Given the description of an element on the screen output the (x, y) to click on. 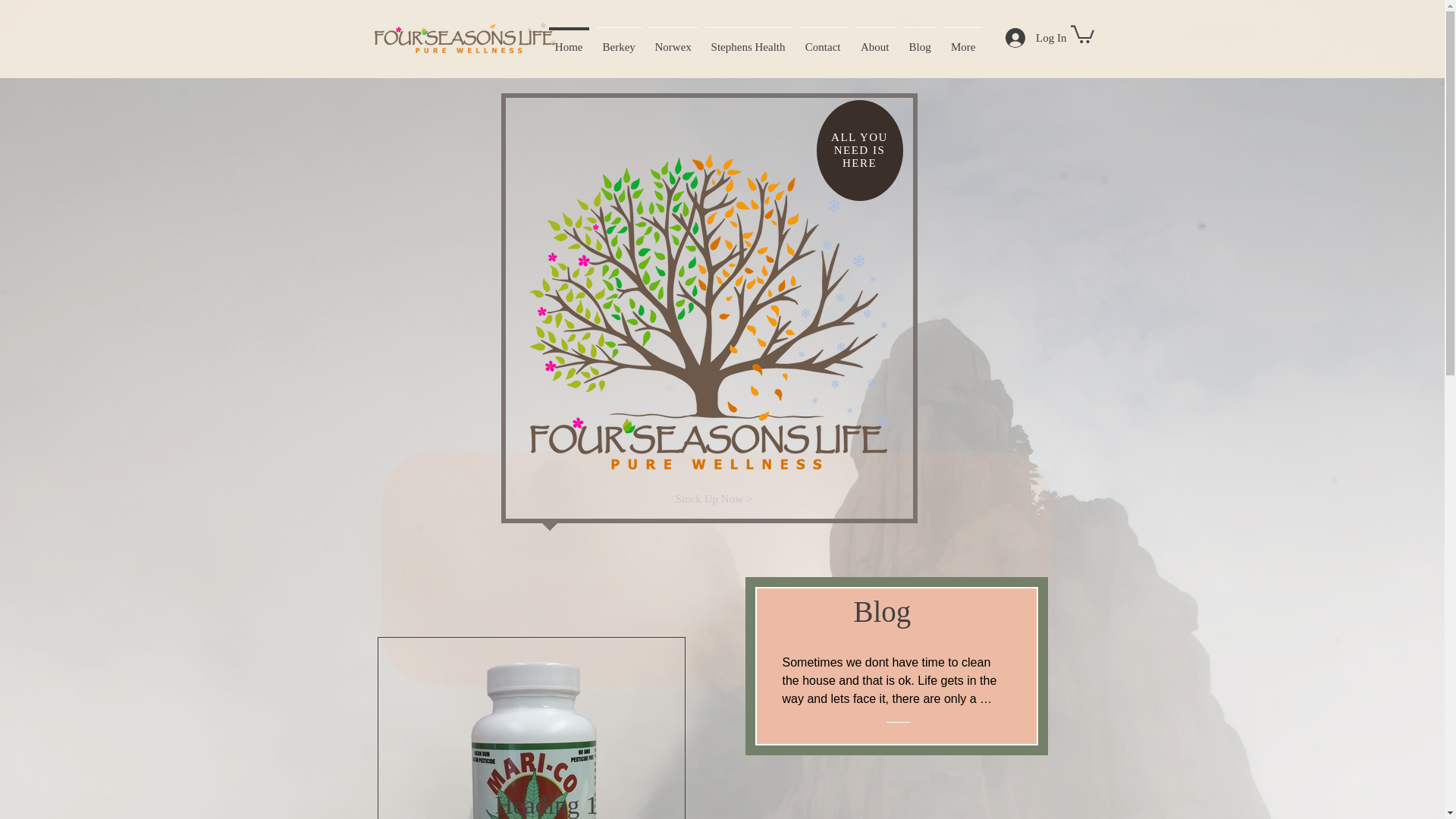
pure welness (708, 311)
Berkey (618, 40)
Cannabis Sativa seed oil capsules (531, 739)
Norwex (672, 40)
Cannabis Sativa seed oil capsules (531, 739)
Blog (919, 40)
Log In (1035, 37)
Home (568, 40)
Contact (822, 40)
Stephens Health (747, 40)
